Given the description of an element on the screen output the (x, y) to click on. 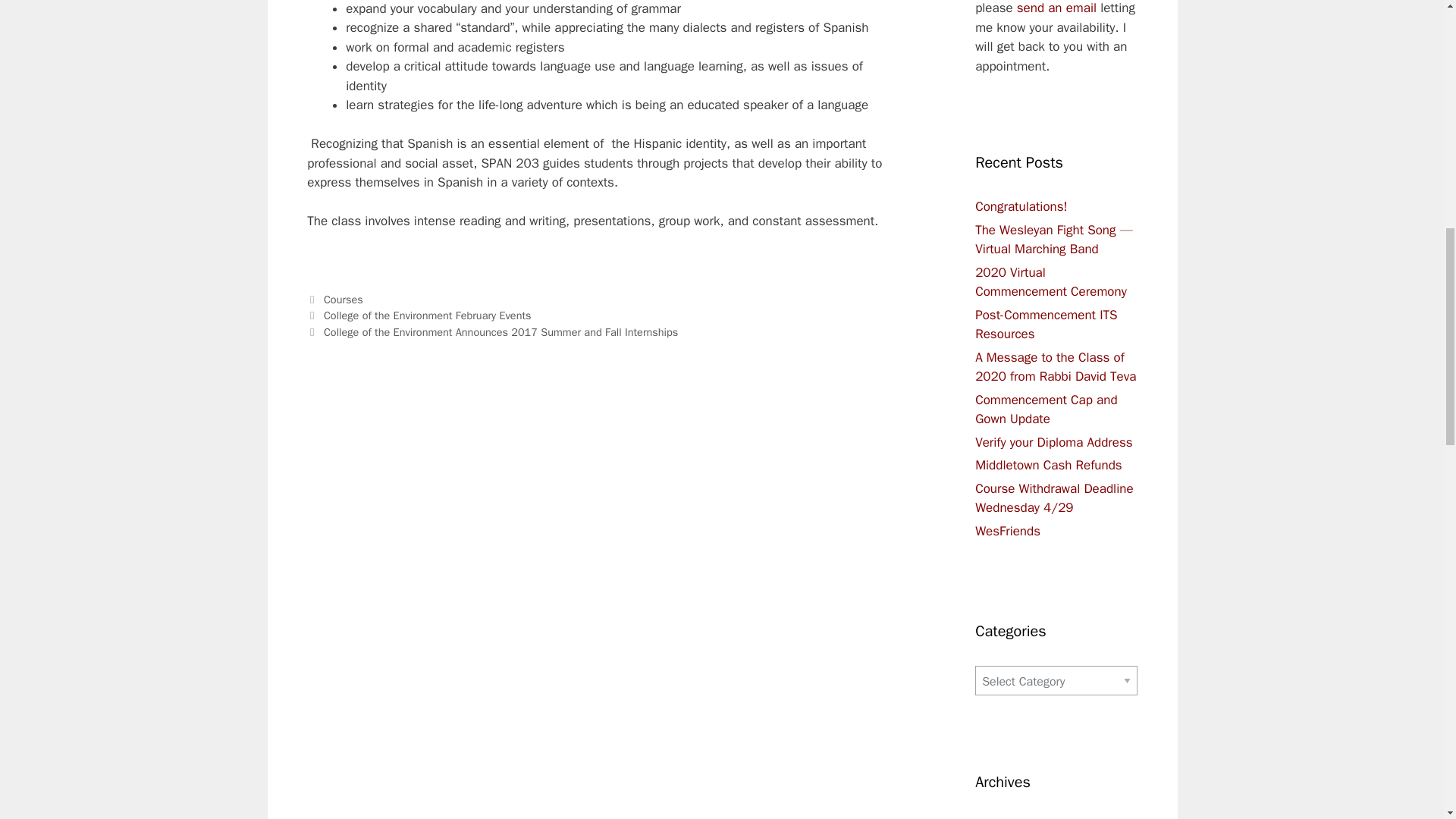
send an email (1056, 7)
Courses (342, 299)
College of the Environment February Events (427, 315)
Congratulations! (1021, 206)
